Given the description of an element on the screen output the (x, y) to click on. 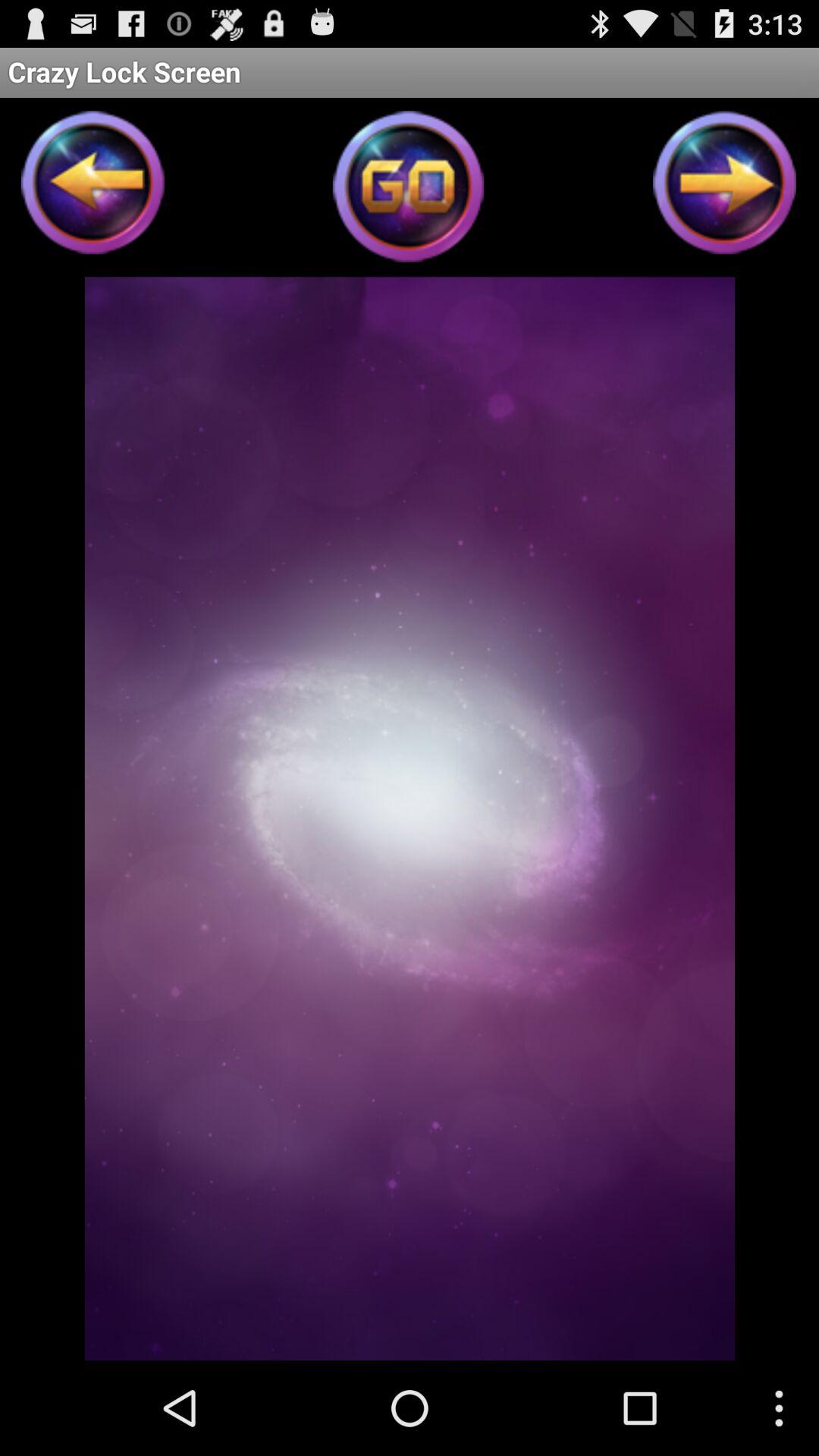
go to go (408, 190)
